Given the description of an element on the screen output the (x, y) to click on. 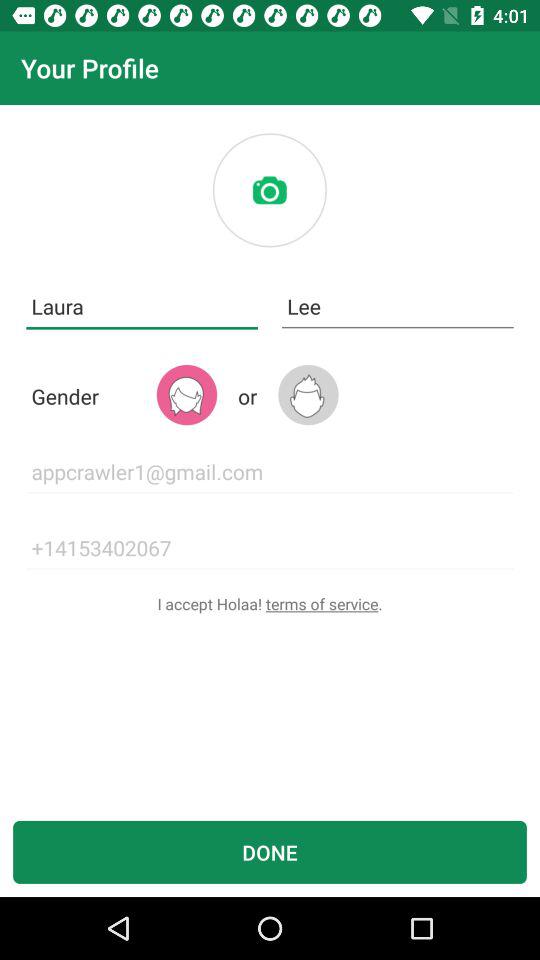
press item to the left of the or icon (186, 394)
